Given the description of an element on the screen output the (x, y) to click on. 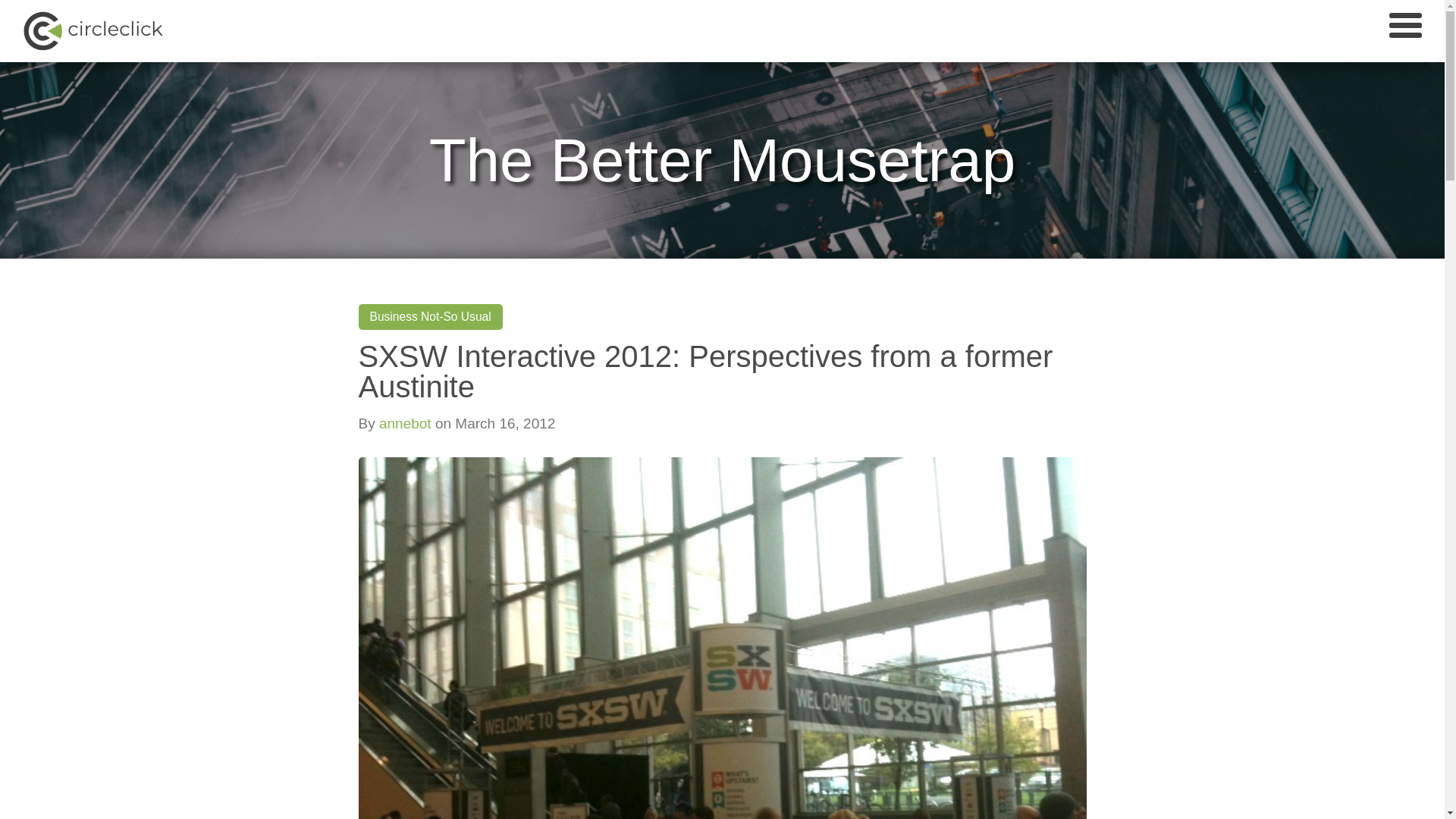
Business Not-So Usual (430, 316)
CircleClick Media (101, 30)
annebot (404, 423)
The Better Mousetrap (722, 160)
